Given the description of an element on the screen output the (x, y) to click on. 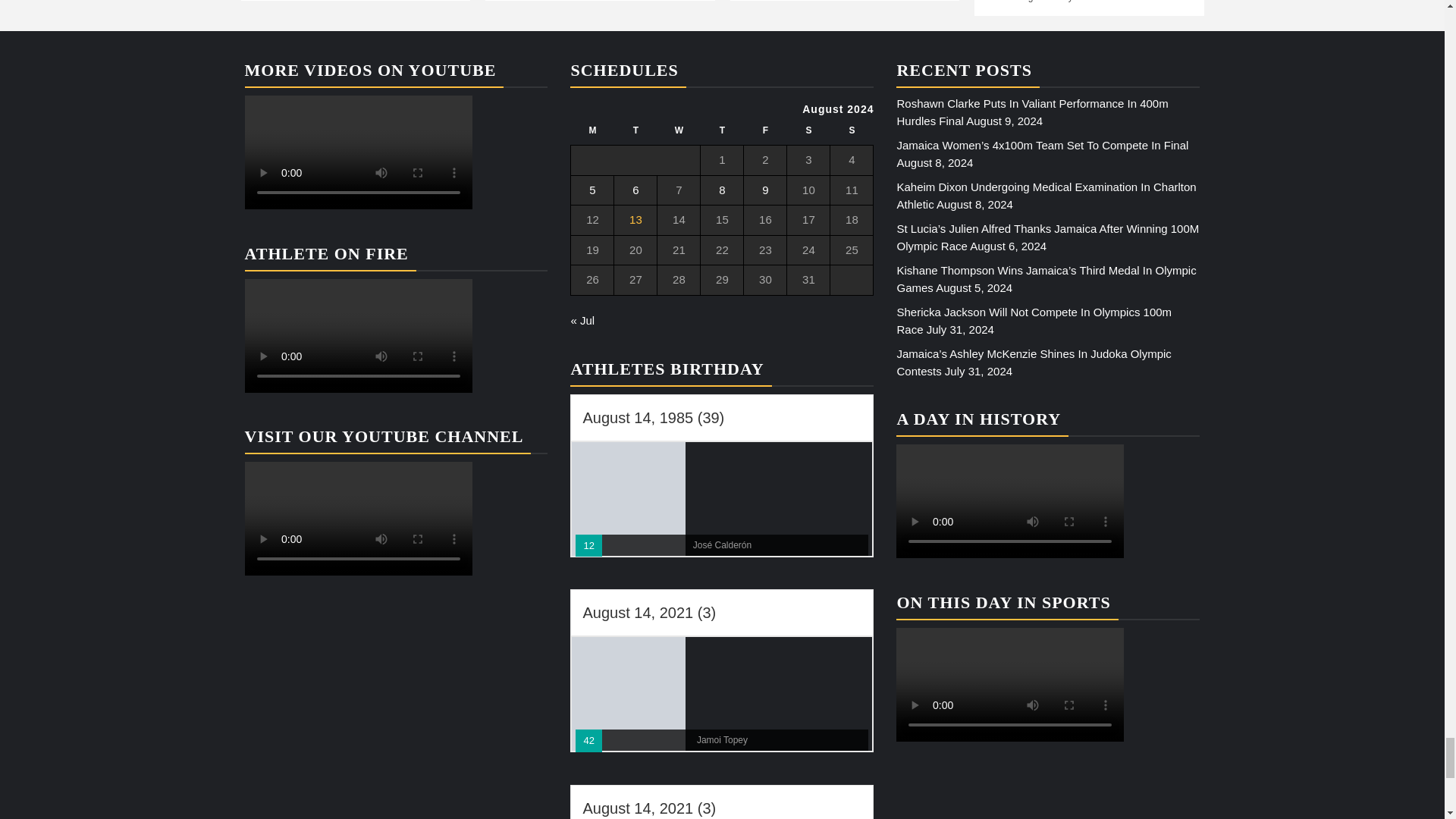
Wednesday (679, 134)
Thursday (722, 134)
Sunday (851, 134)
Saturday (808, 134)
Tuesday (636, 134)
Monday (592, 134)
Friday (765, 134)
